Given the description of an element on the screen output the (x, y) to click on. 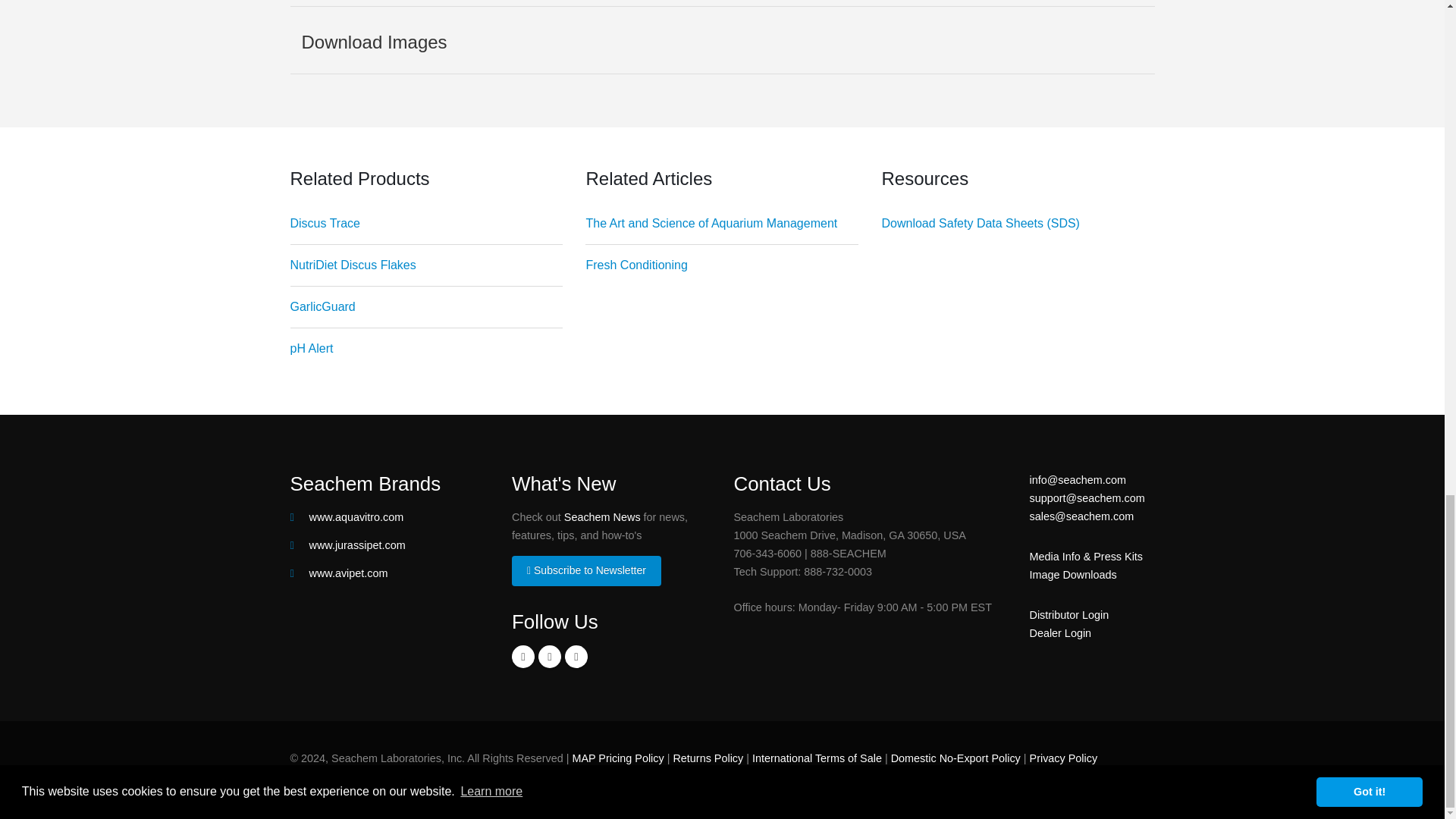
Twitter (549, 656)
Facebook (523, 656)
instagram (576, 656)
